Given the description of an element on the screen output the (x, y) to click on. 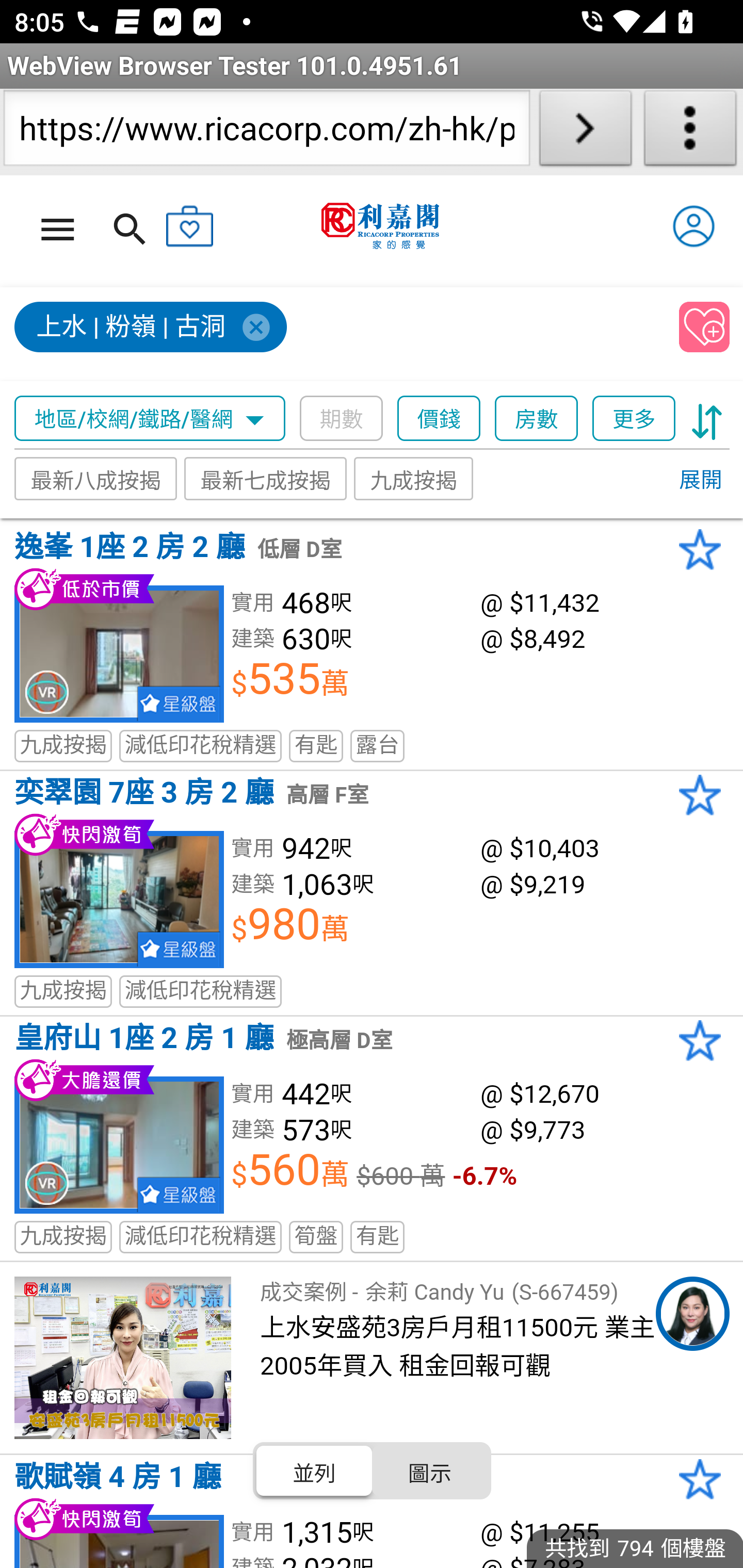
Load URL (585, 132)
About WebView (690, 132)
上水 | 粉嶺 | 古洞 (151, 327)
save (705, 327)
地區/校網/鐵路/醫網 (150, 418)
期數 (341, 418)
價錢 (439, 418)
房數 (536, 418)
更多 (634, 418)
sort (706, 418)
最新八成按揭 (96, 478)
最新七成按揭 (266, 478)
九成按揭 (413, 478)
展開 (699, 481)
Candy Yu (692, 1313)
並列 (314, 1470)
圖示 (429, 1470)
